Given the description of an element on the screen output the (x, y) to click on. 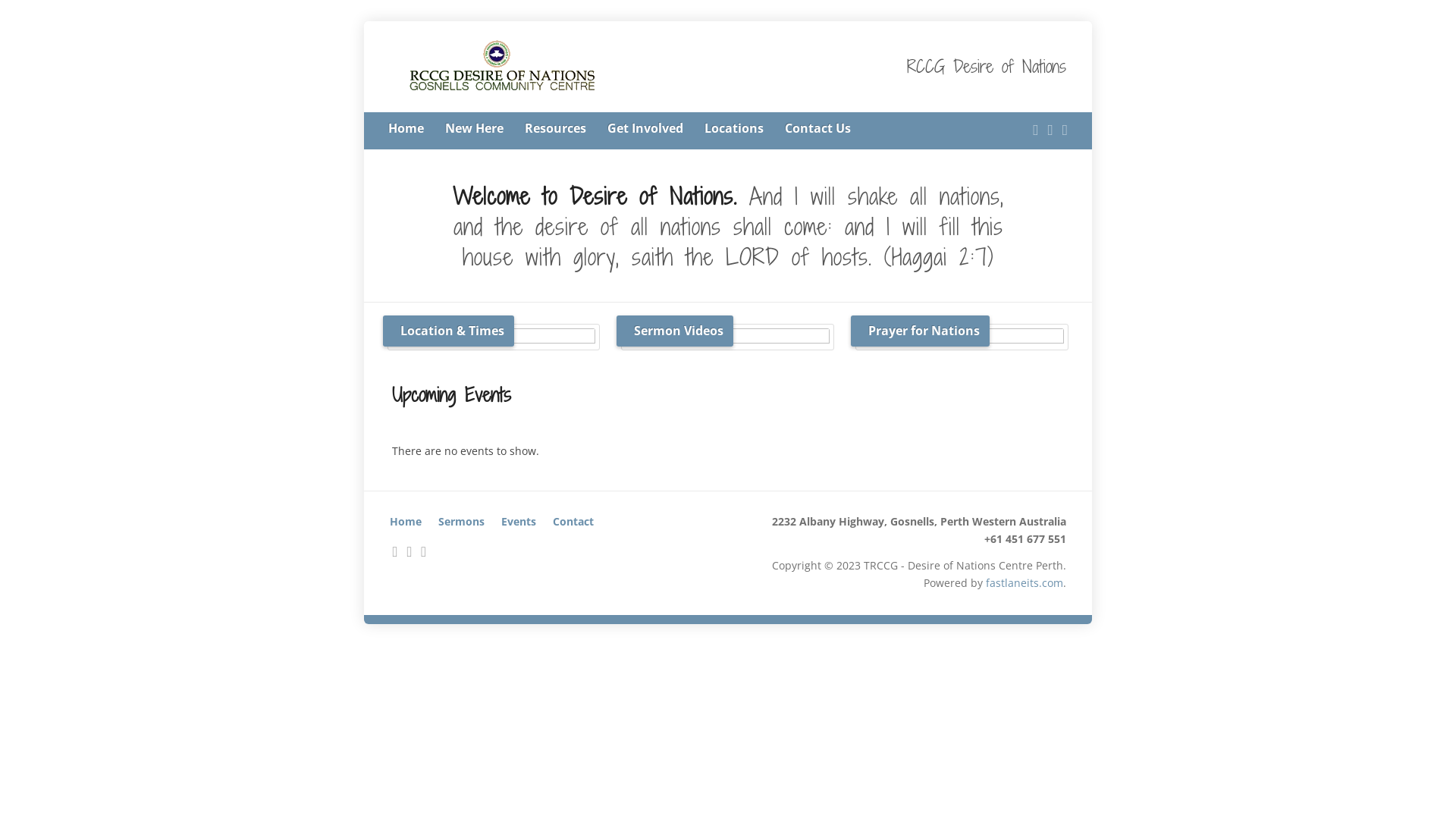
fastlaneits.com Element type: text (1024, 582)
Home Element type: text (405, 521)
New Here Element type: text (474, 128)
Sermons Element type: text (461, 521)
Facebook Element type: hover (408, 551)
YouTube Element type: hover (1064, 129)
Contact Element type: text (572, 521)
Sermon Videos Element type: text (727, 336)
Events Element type: text (518, 521)
YouTube Element type: hover (423, 551)
RSS Element type: hover (395, 551)
Contact Us Element type: text (817, 128)
Get Involved Element type: text (645, 128)
Prayer for Nations Element type: text (961, 336)
Home Element type: text (405, 128)
Facebook Element type: hover (1050, 129)
Resources Element type: text (555, 128)
Location & Times Element type: text (494, 336)
RSS Element type: hover (1035, 129)
Locations Element type: text (733, 128)
